Given the description of an element on the screen output the (x, y) to click on. 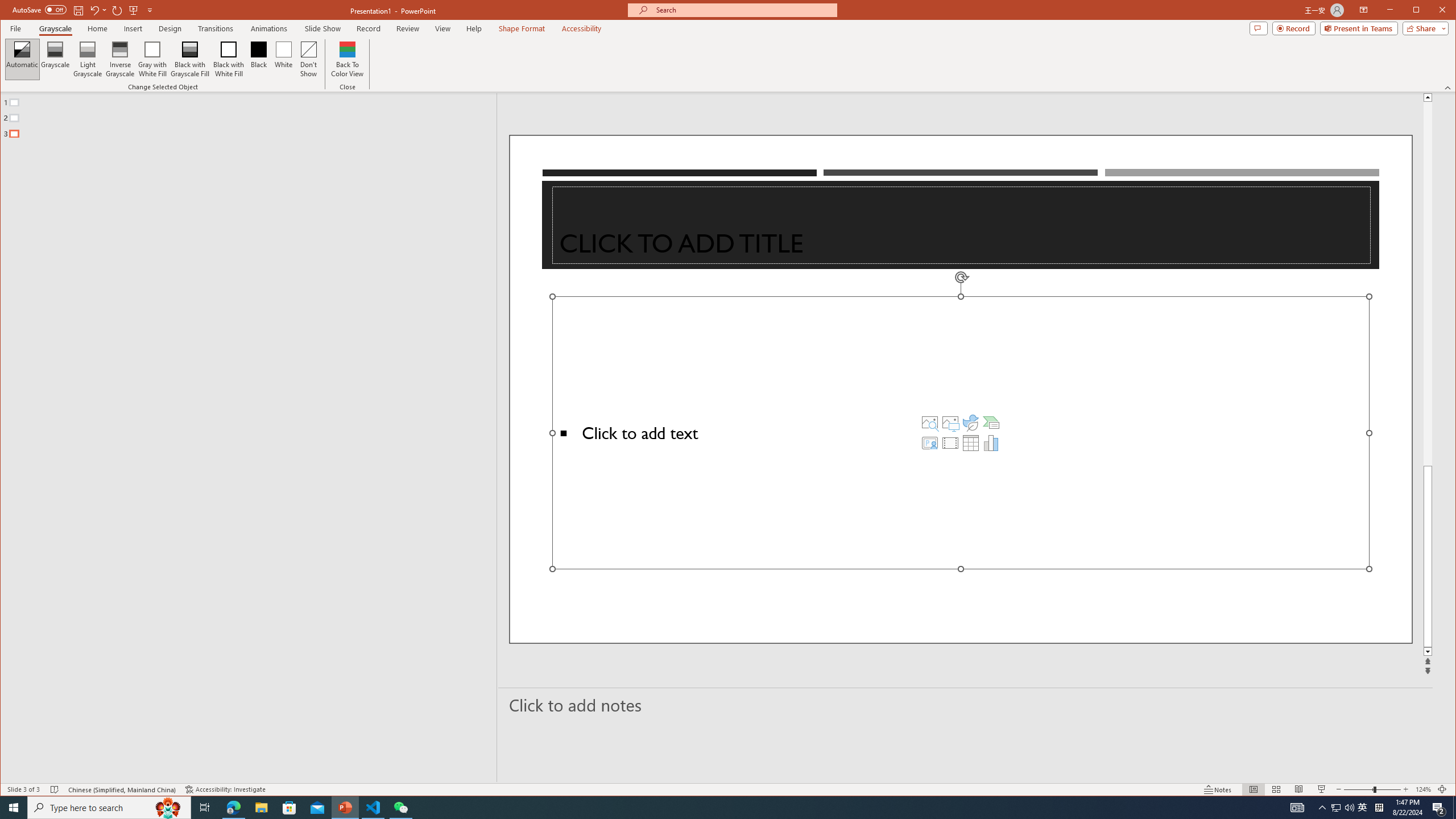
Insert Video (949, 443)
Black (258, 59)
Grayscale (55, 59)
